Given the description of an element on the screen output the (x, y) to click on. 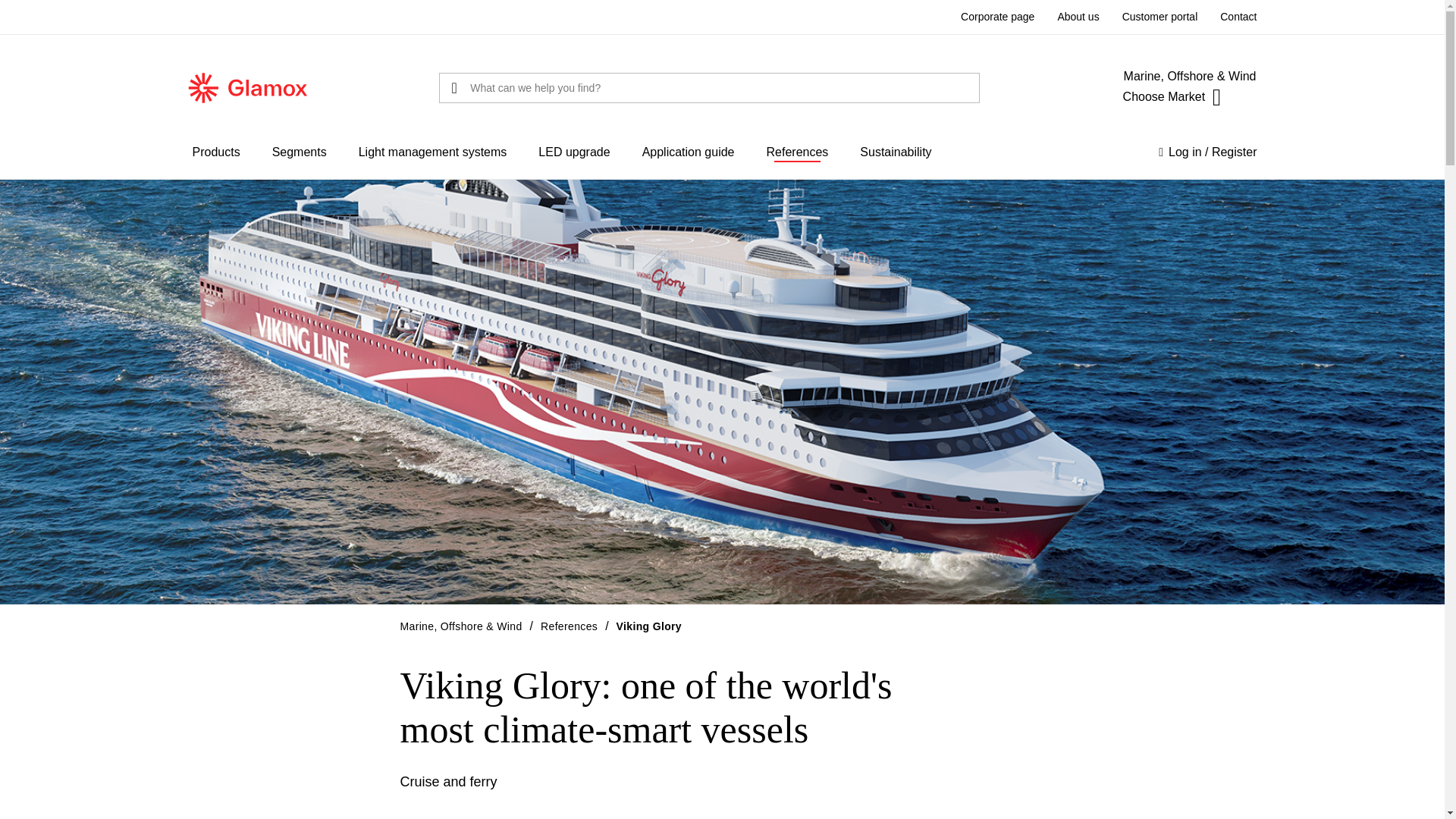
Cruise and ferry (448, 781)
Viking Glory (648, 625)
Application guide (688, 152)
Segments (299, 152)
Choose Market (1172, 96)
Change Password (1216, 173)
Corporate page (996, 17)
LED upgrade (574, 152)
Products (216, 152)
Light management systems (432, 152)
